Given the description of an element on the screen output the (x, y) to click on. 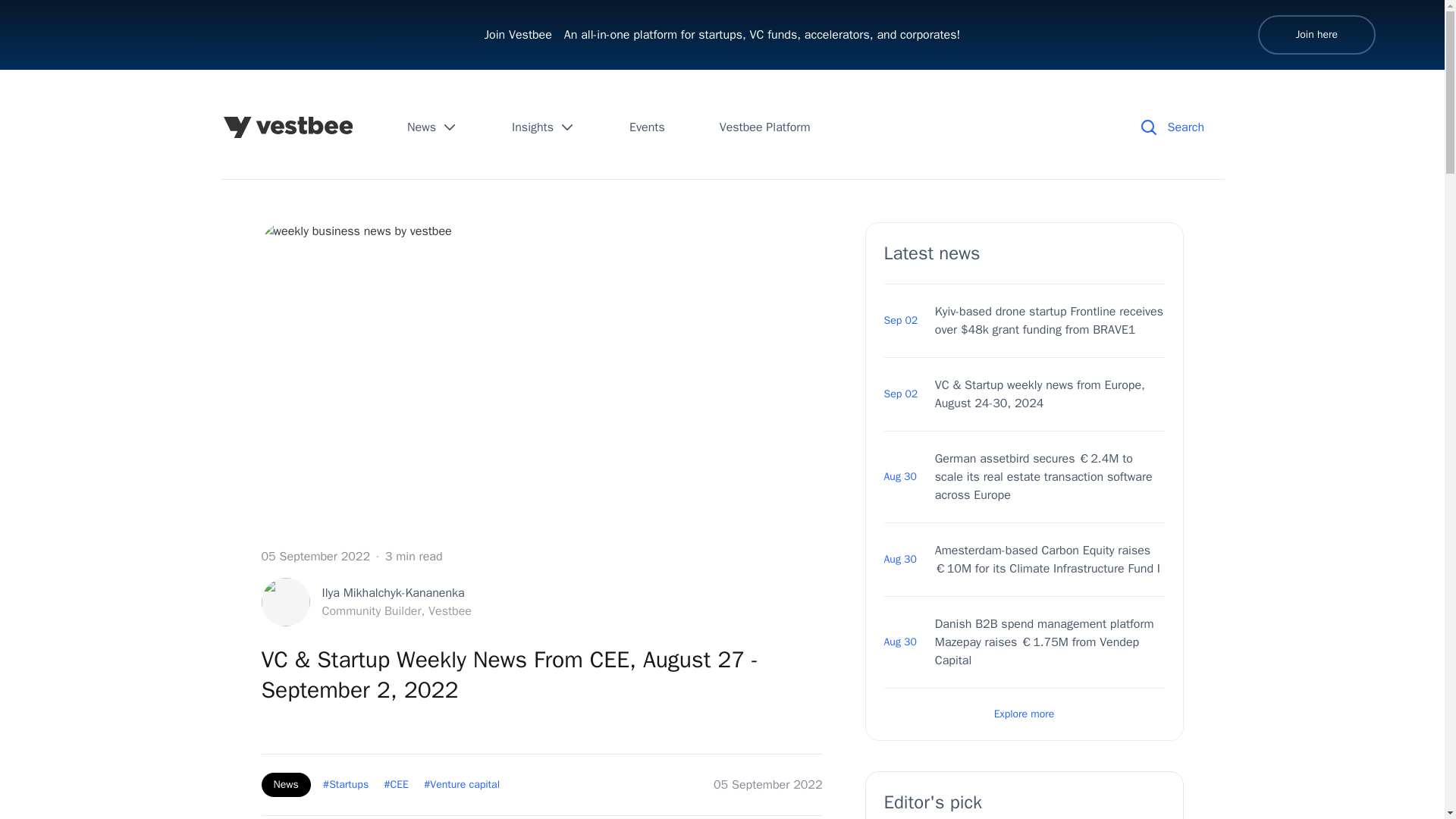
Explore more (365, 602)
News (1023, 713)
Vestbee Platform (431, 127)
Join here (764, 127)
Insights (1316, 34)
Events (542, 127)
News (646, 127)
